Given the description of an element on the screen output the (x, y) to click on. 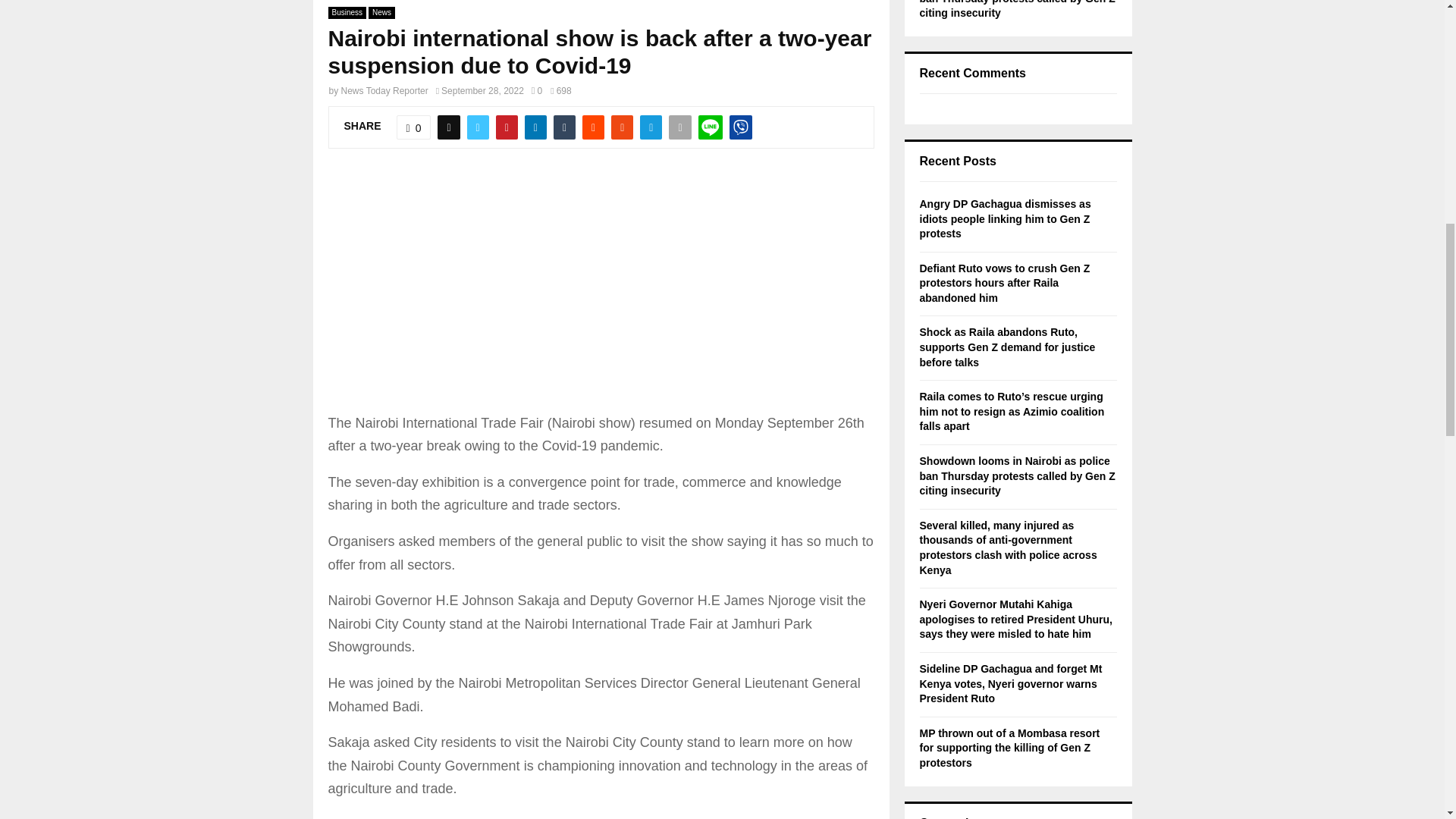
Like (413, 127)
